Given the description of an element on the screen output the (x, y) to click on. 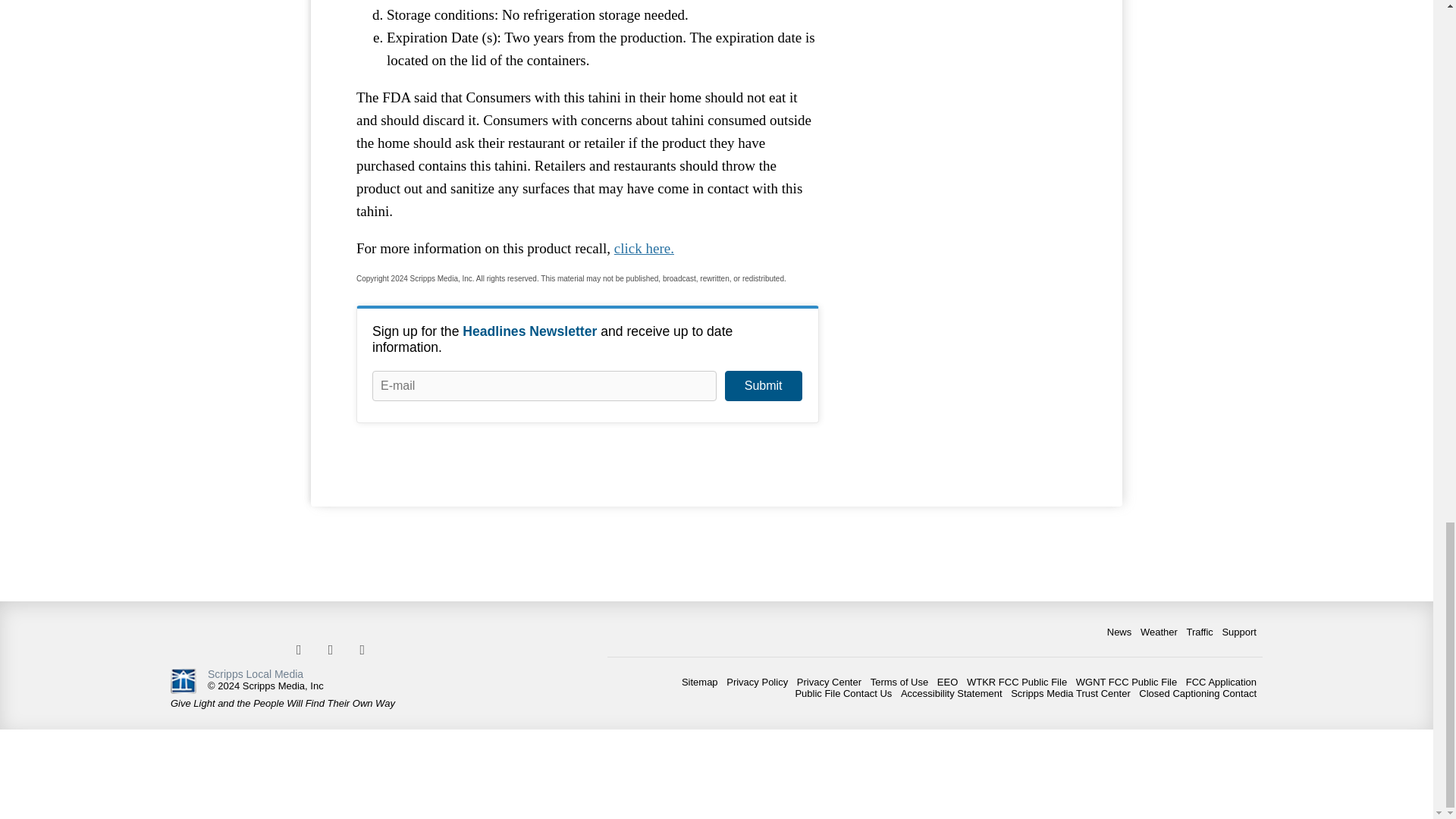
Submit (763, 386)
